Given the description of an element on the screen output the (x, y) to click on. 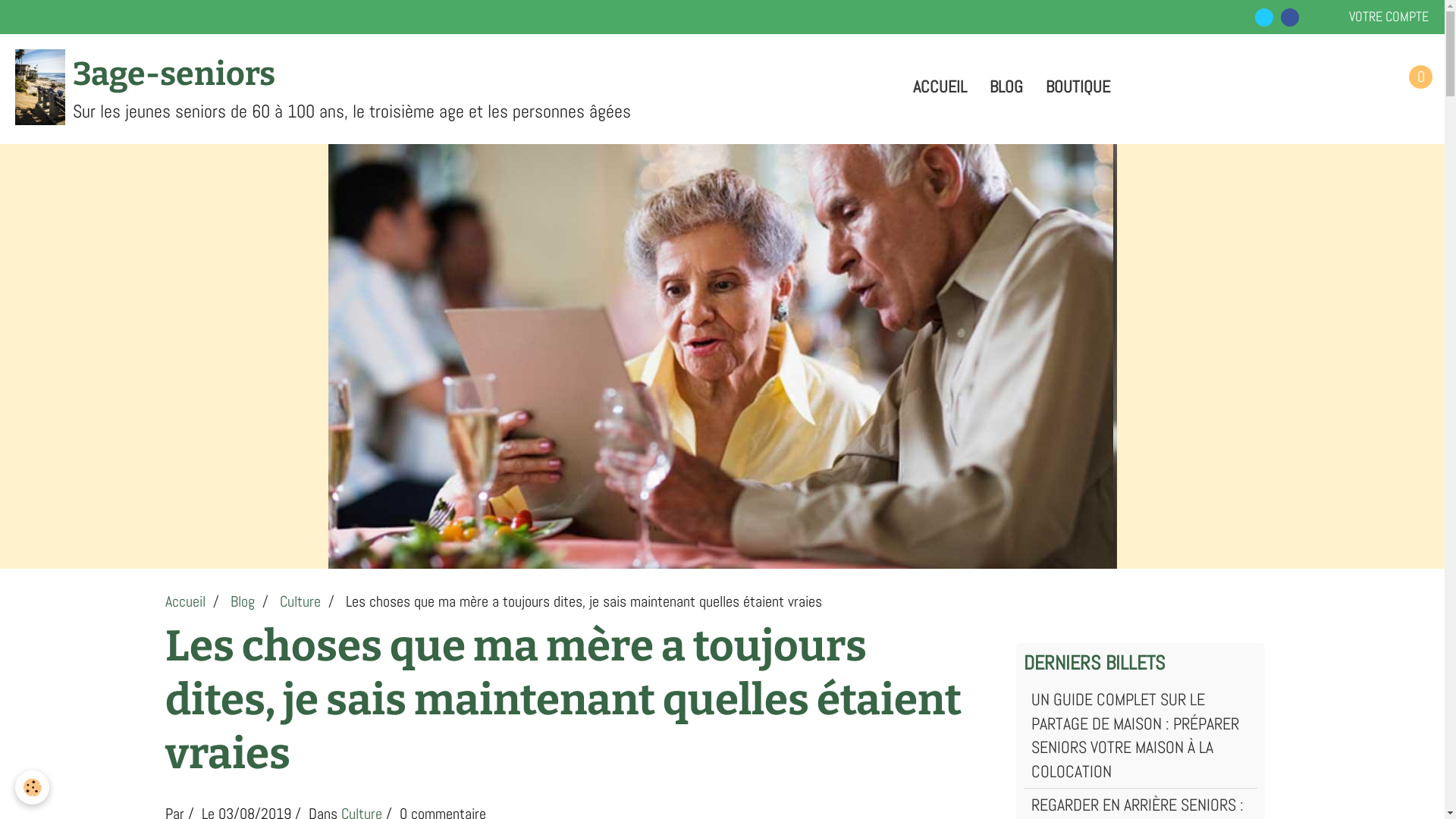
Accueil Element type: text (185, 601)
VOTRE COMPTE Element type: text (1388, 17)
Culture Element type: text (299, 601)
ACCUEIL Element type: text (938, 86)
Blog Element type: text (242, 601)
BLOG Element type: text (1006, 86)
BOUTIQUE Element type: text (1077, 86)
0 Element type: text (1410, 87)
